Given the description of an element on the screen output the (x, y) to click on. 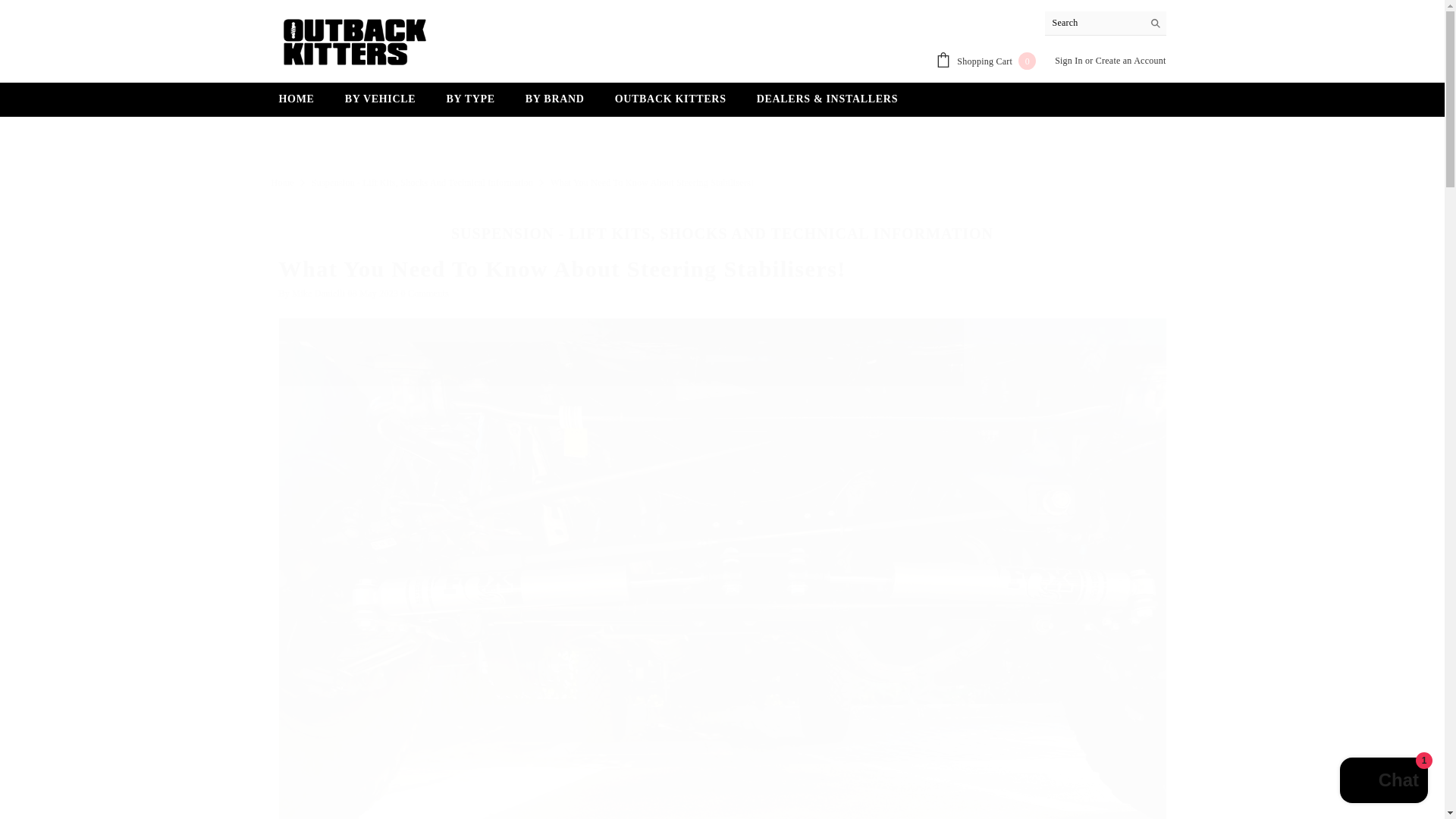
BY VEHICLE (380, 103)
Sign In (1068, 60)
Create an Account (1131, 60)
HOME (296, 103)
SUSPENSION - LIFT KITS, SHOCKS AND TECHNICAL INFORMATION (722, 229)
Shopify online store chat (985, 60)
